Given the description of an element on the screen output the (x, y) to click on. 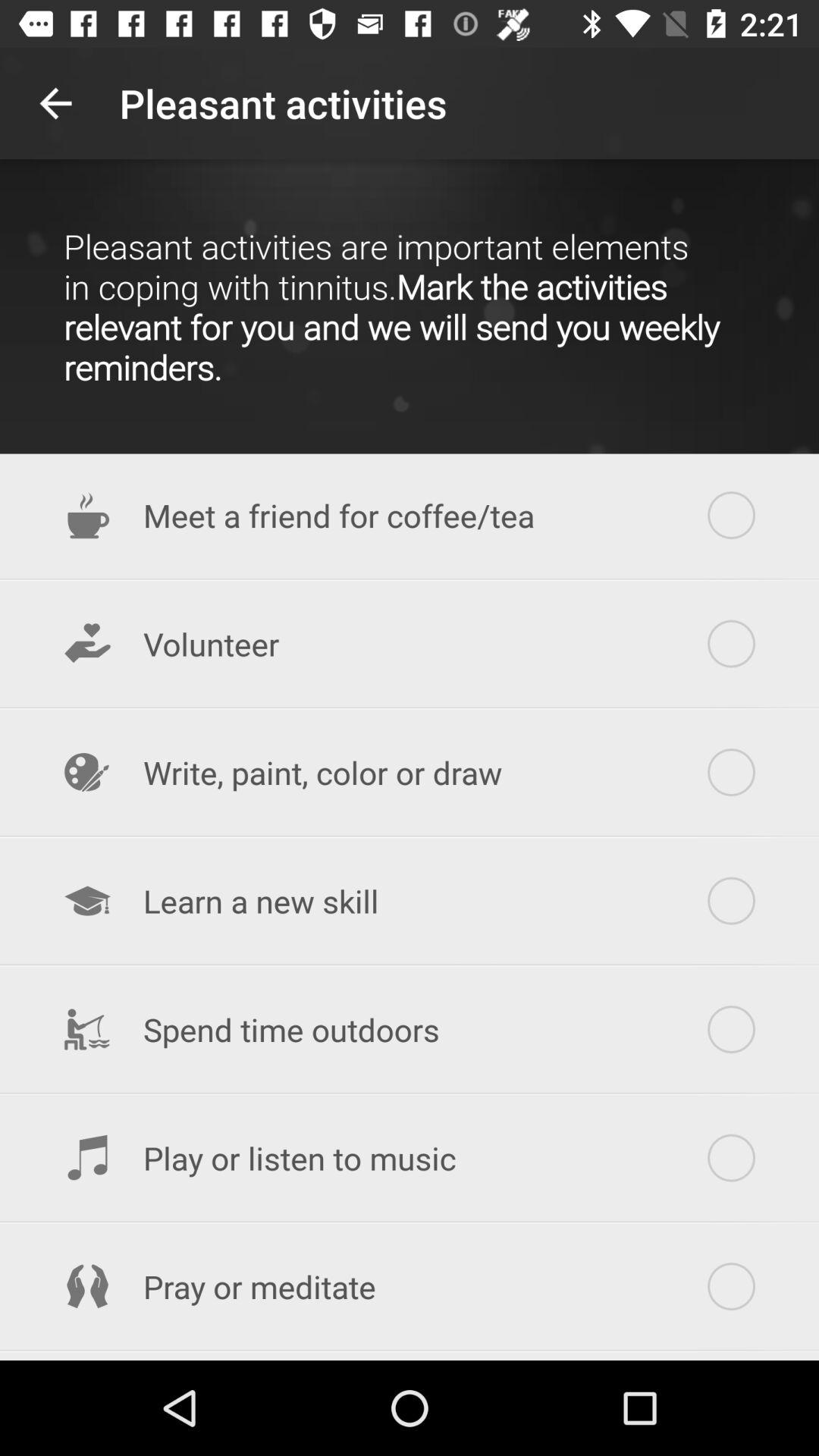
turn off the item above learn a new item (409, 772)
